Given the description of an element on the screen output the (x, y) to click on. 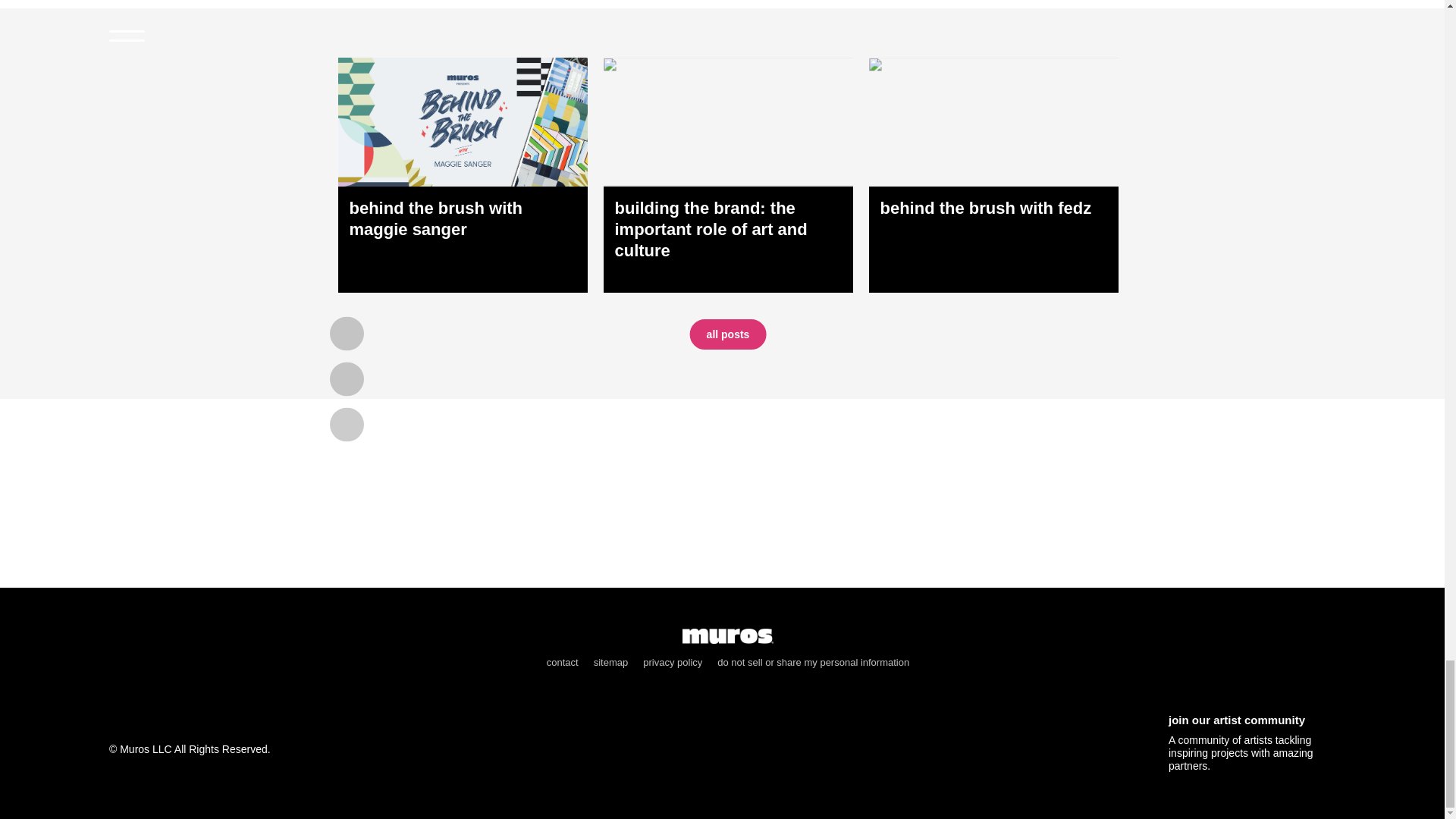
privacy policy (672, 662)
do not sell or share my personal information (812, 662)
Connect with muros on LinkedIn (222, 722)
building the brand: the important role of art and culture (728, 174)
all posts (728, 334)
Follow muros on Instagram (119, 720)
Subscribe to muros on YouTube (171, 722)
sitemap (611, 662)
behind the brush with maggie sanger (462, 174)
behind the brush with fedz (993, 174)
